Given the description of an element on the screen output the (x, y) to click on. 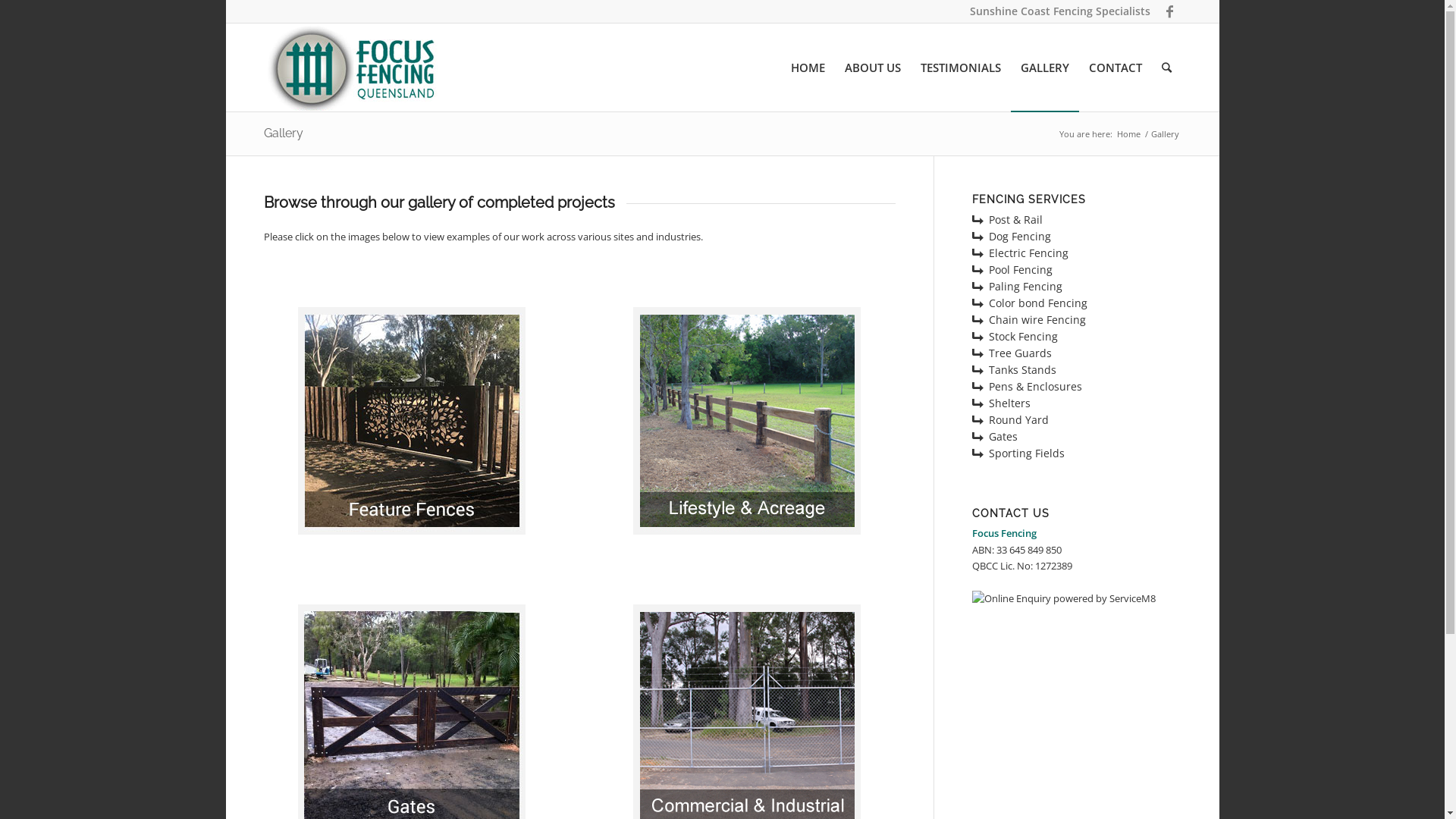
HOME Element type: text (807, 67)
Gallery Element type: text (283, 132)
ABOUT US Element type: text (872, 67)
GALLERY Element type: text (1044, 67)
Home Element type: text (1128, 133)
Facebook Element type: hover (1169, 11)
CONTACT Element type: text (1114, 67)
TESTIMONIALS Element type: text (960, 67)
